Given the description of an element on the screen output the (x, y) to click on. 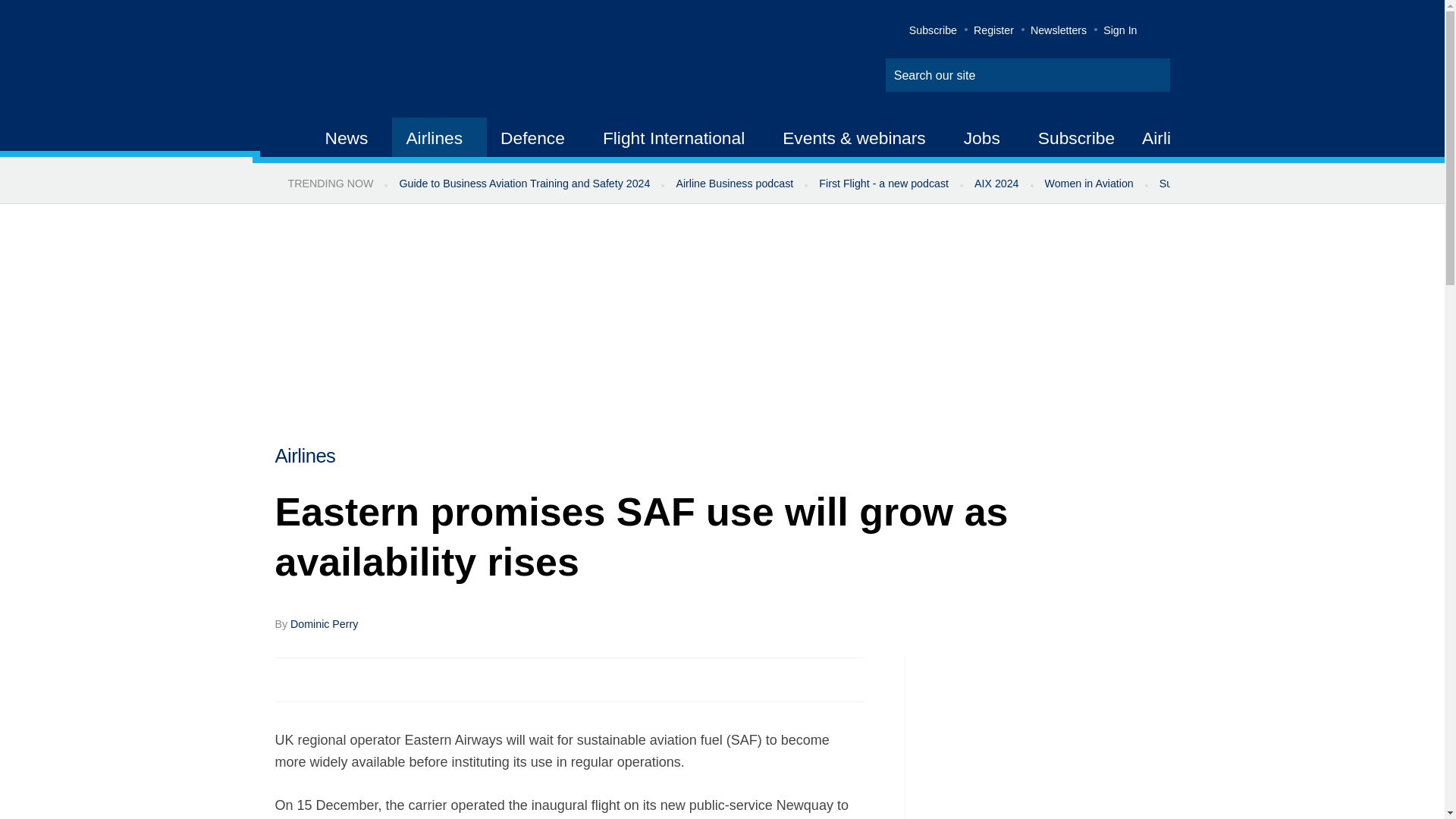
Women in Aviation (1089, 183)
Share this on Twitter (320, 678)
Airline Business podcast (734, 183)
Share this on Linked in (352, 678)
Site name (422, 60)
AIX 2024 (996, 183)
Email this article (386, 678)
Guide to Business Aviation Training and Safety 2024 (523, 183)
Share this on Facebook (288, 678)
Sustainable Aviation newsletter (1234, 183)
First Flight - a new podcast (883, 183)
